Given the description of an element on the screen output the (x, y) to click on. 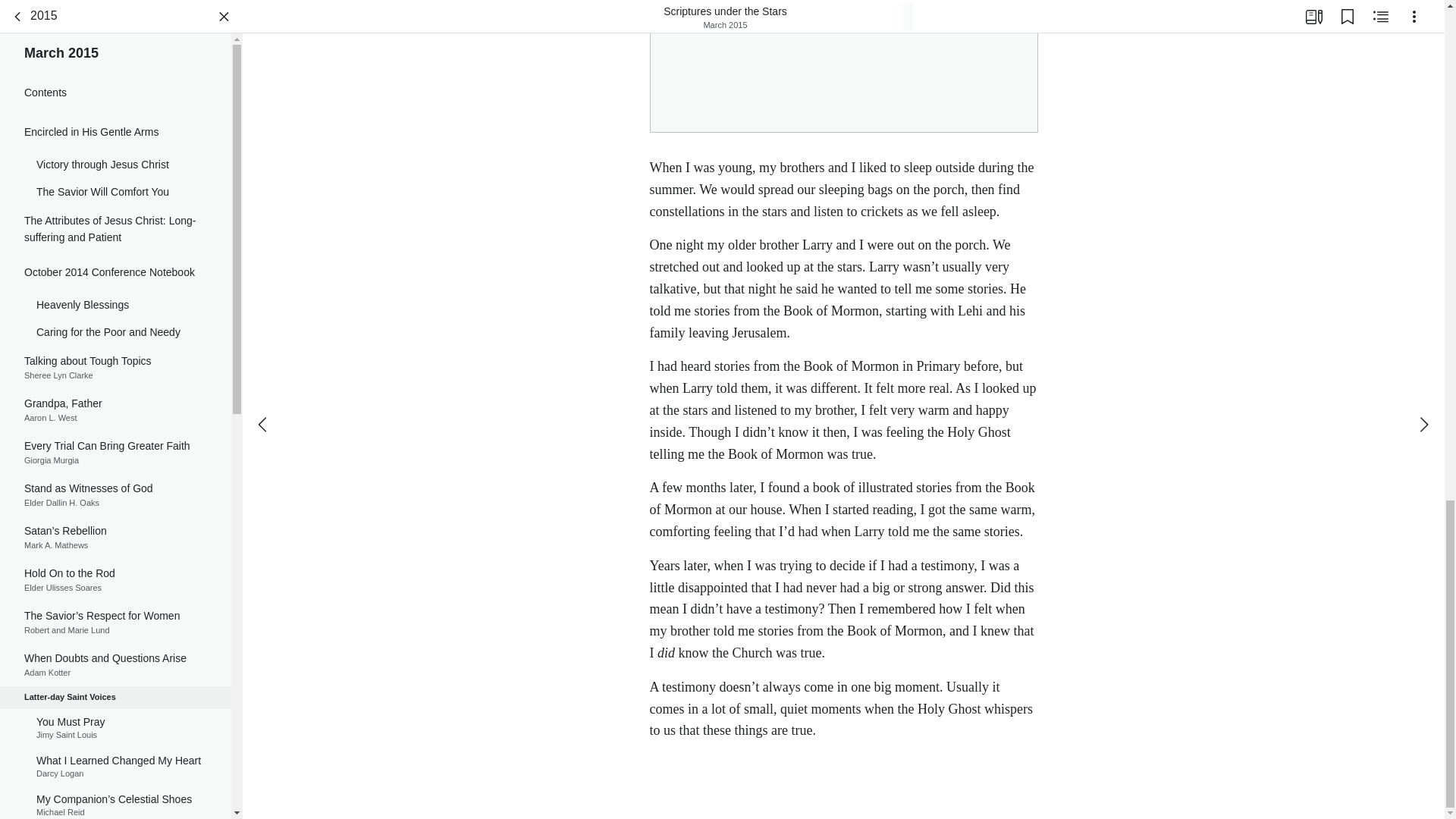
Coloring Page (115, 182)
Product Shot from March 2015 Liahona (115, 24)
Getting Ready for Easter (842, 78)
